Given the description of an element on the screen output the (x, y) to click on. 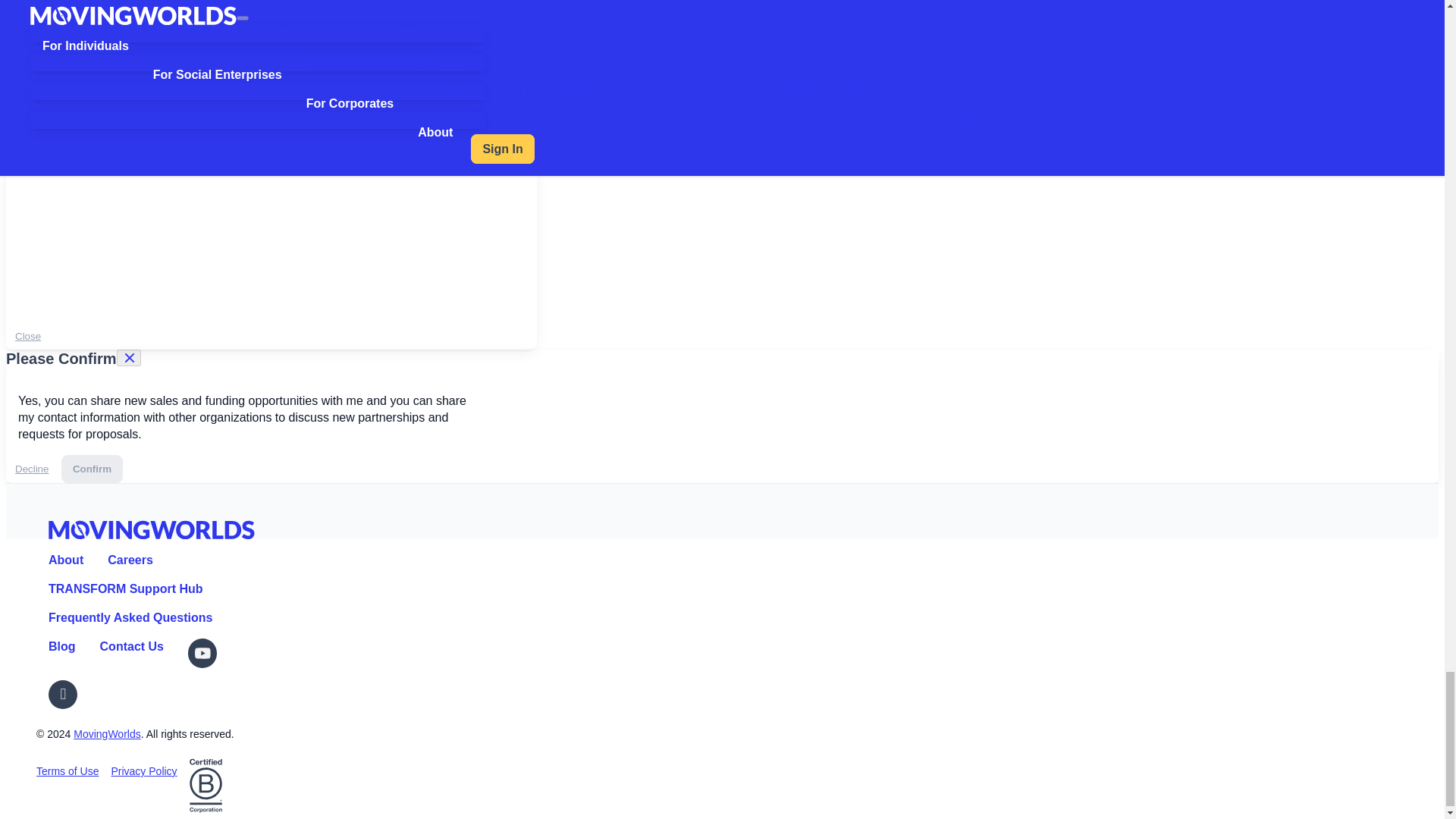
youtube (203, 652)
MovingWorlds Logo (151, 529)
Certified B Corporation (205, 785)
